Given the description of an element on the screen output the (x, y) to click on. 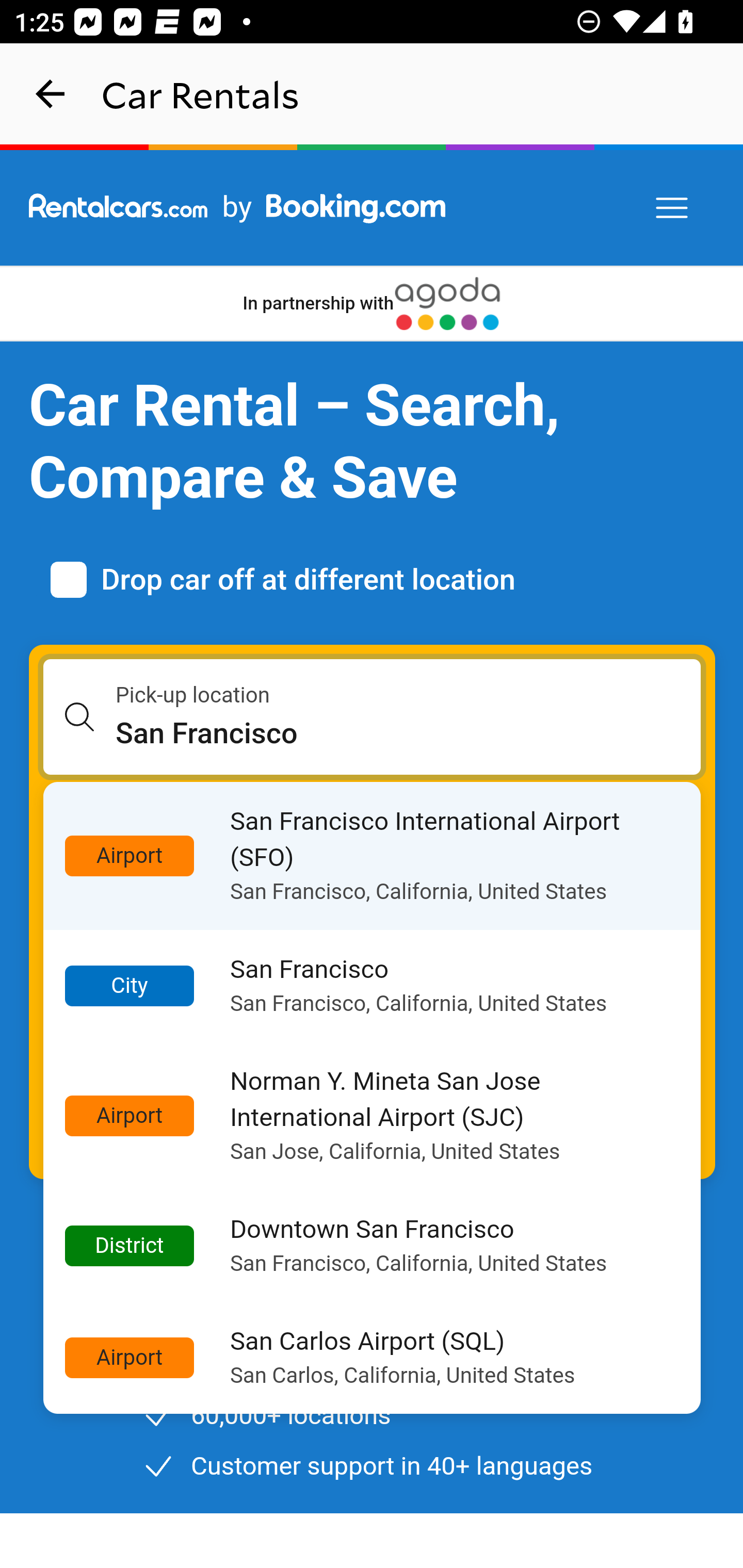
navigation_button (50, 93)
Menu (672, 208)
Pick-up location San Francisco (372, 717)
San Francisco (408, 733)
Search (372, 1106)
